Given the description of an element on the screen output the (x, y) to click on. 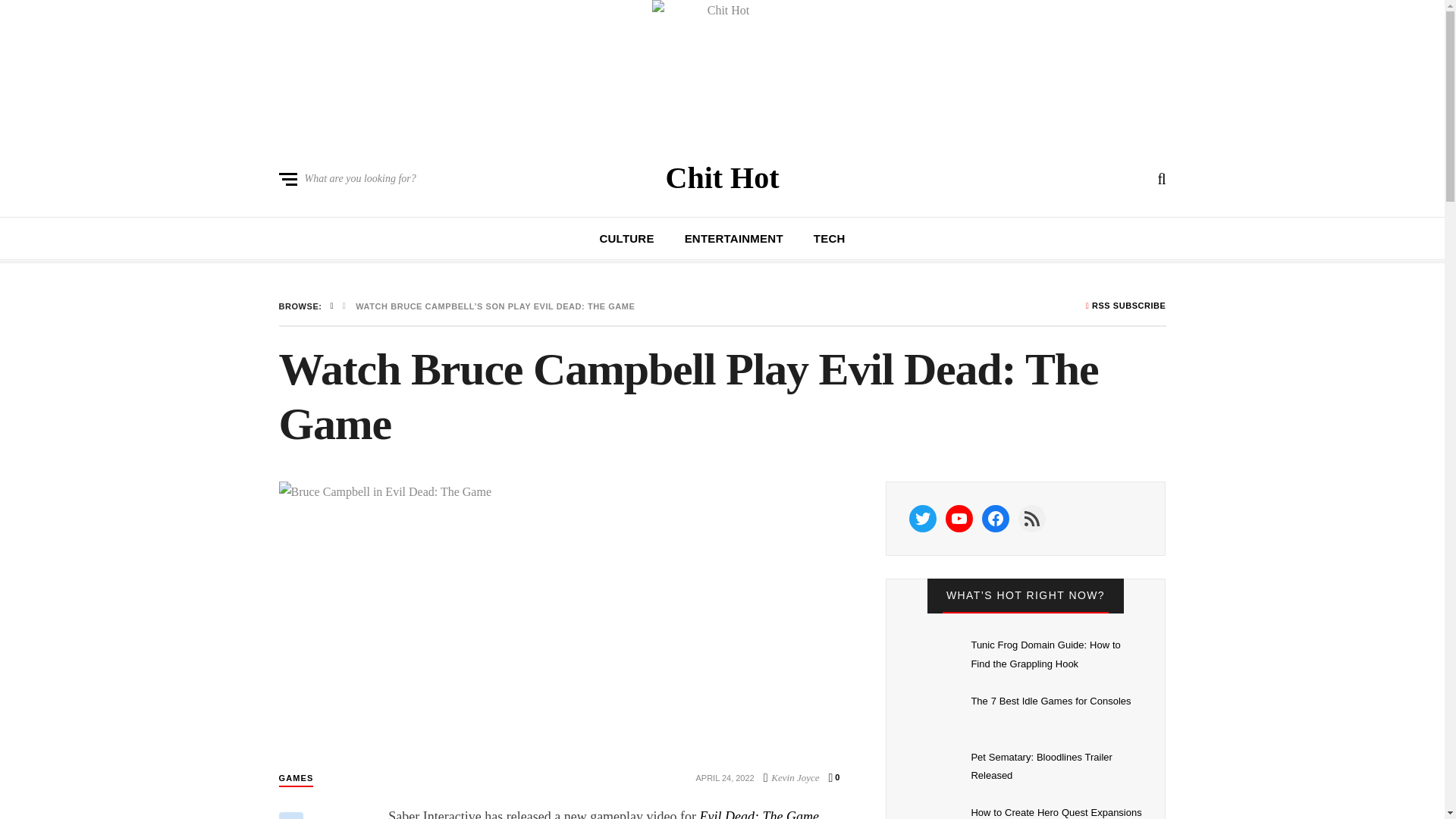
CULTURE (625, 237)
Chit Hot (721, 177)
RSS SUBSCRIBE (1126, 307)
Chit Hot (722, 70)
ENTERTAINMENT (733, 237)
What are you looking for? (347, 178)
Search (907, 546)
Click to share on Reddit (290, 815)
TECH (829, 237)
Chit Hot (721, 177)
Evil Dead: The Game (759, 814)
GAMES (296, 778)
